Given the description of an element on the screen output the (x, y) to click on. 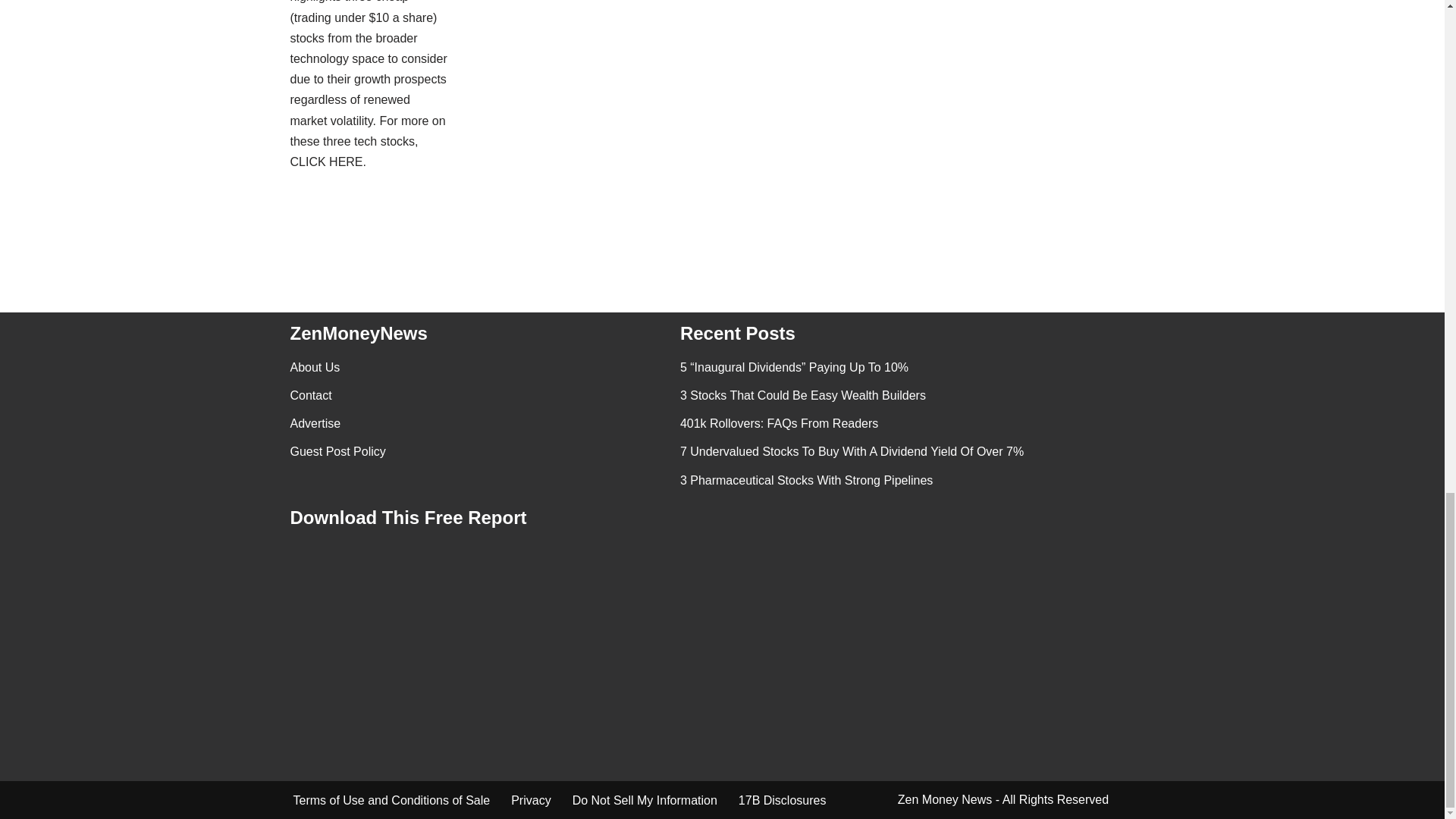
Advertise (314, 422)
Terms of Use and Conditions of Sale (390, 800)
401k Rollovers: FAQs From Readers (778, 422)
3 Pharmaceutical Stocks With Strong Pipelines (806, 480)
3 Stocks That Could Be Easy Wealth Builders (802, 395)
About Us (314, 367)
Guest Post Policy (337, 451)
Contact (310, 395)
